Given the description of an element on the screen output the (x, y) to click on. 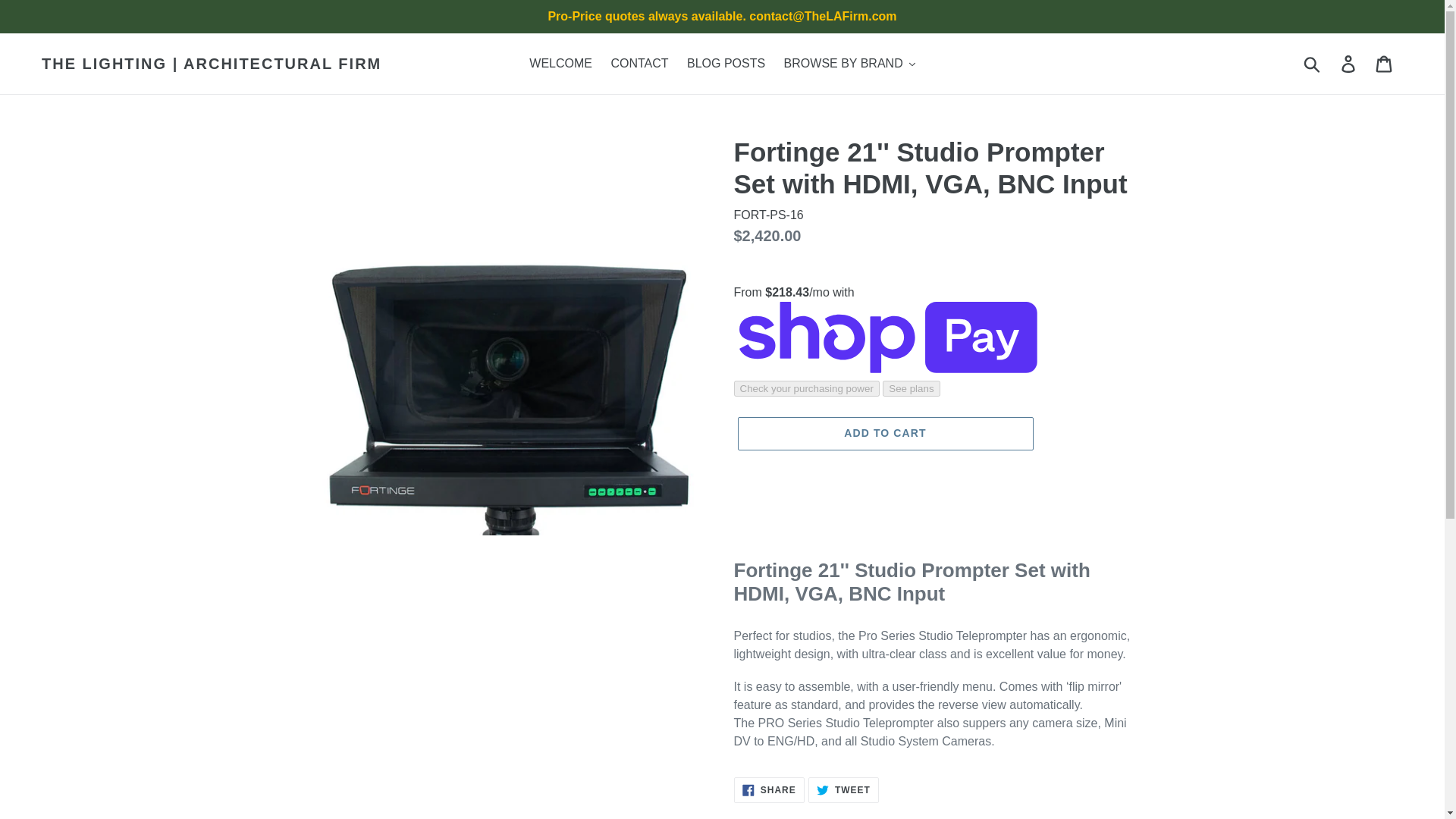
BLOG POSTS (726, 63)
CONTACT (638, 63)
WELCOME (560, 63)
